Given the description of an element on the screen output the (x, y) to click on. 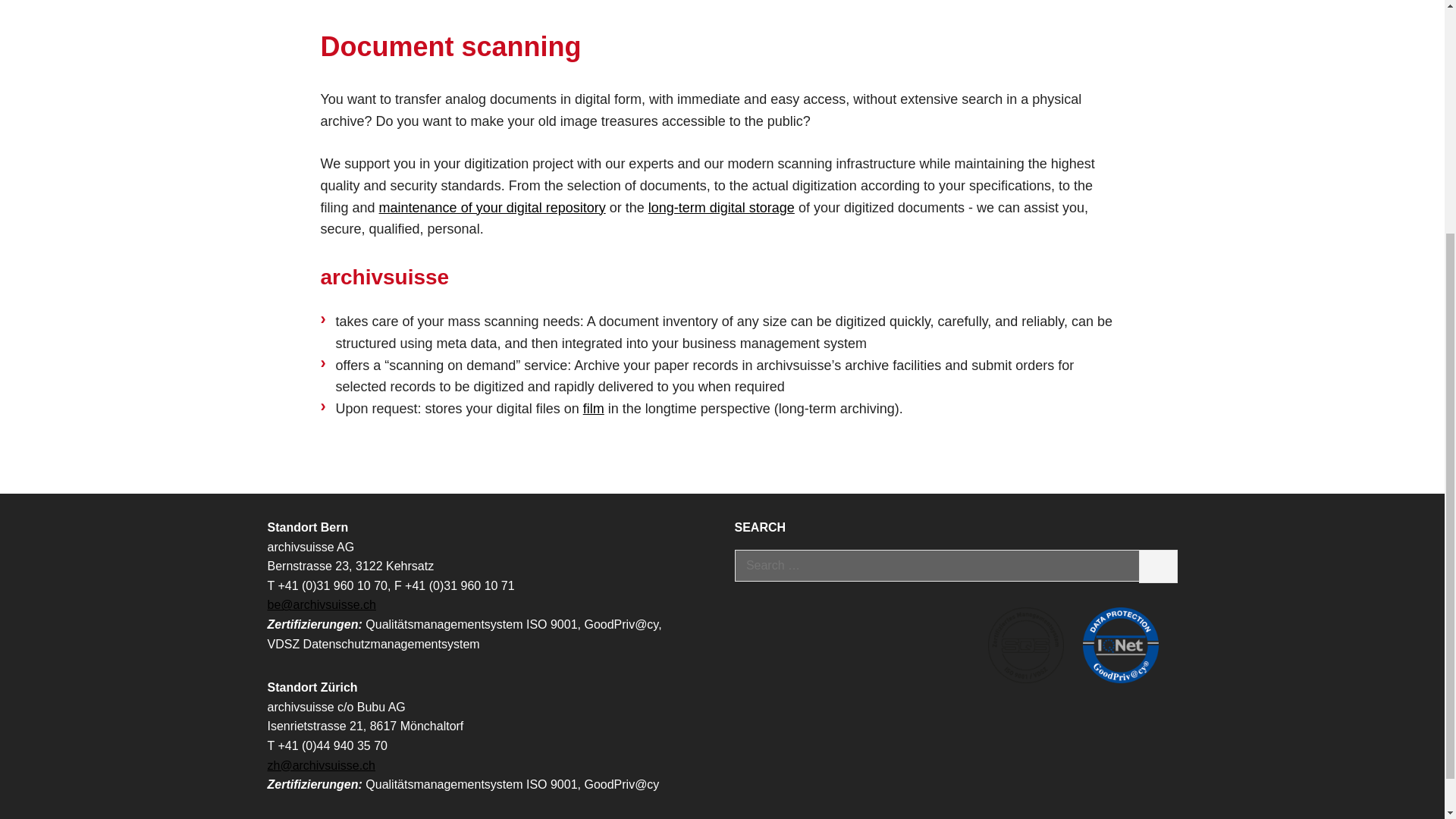
long-term digital storage (720, 207)
film (593, 408)
maintenance of your digital repository (491, 207)
Search for: (935, 565)
